Given the description of an element on the screen output the (x, y) to click on. 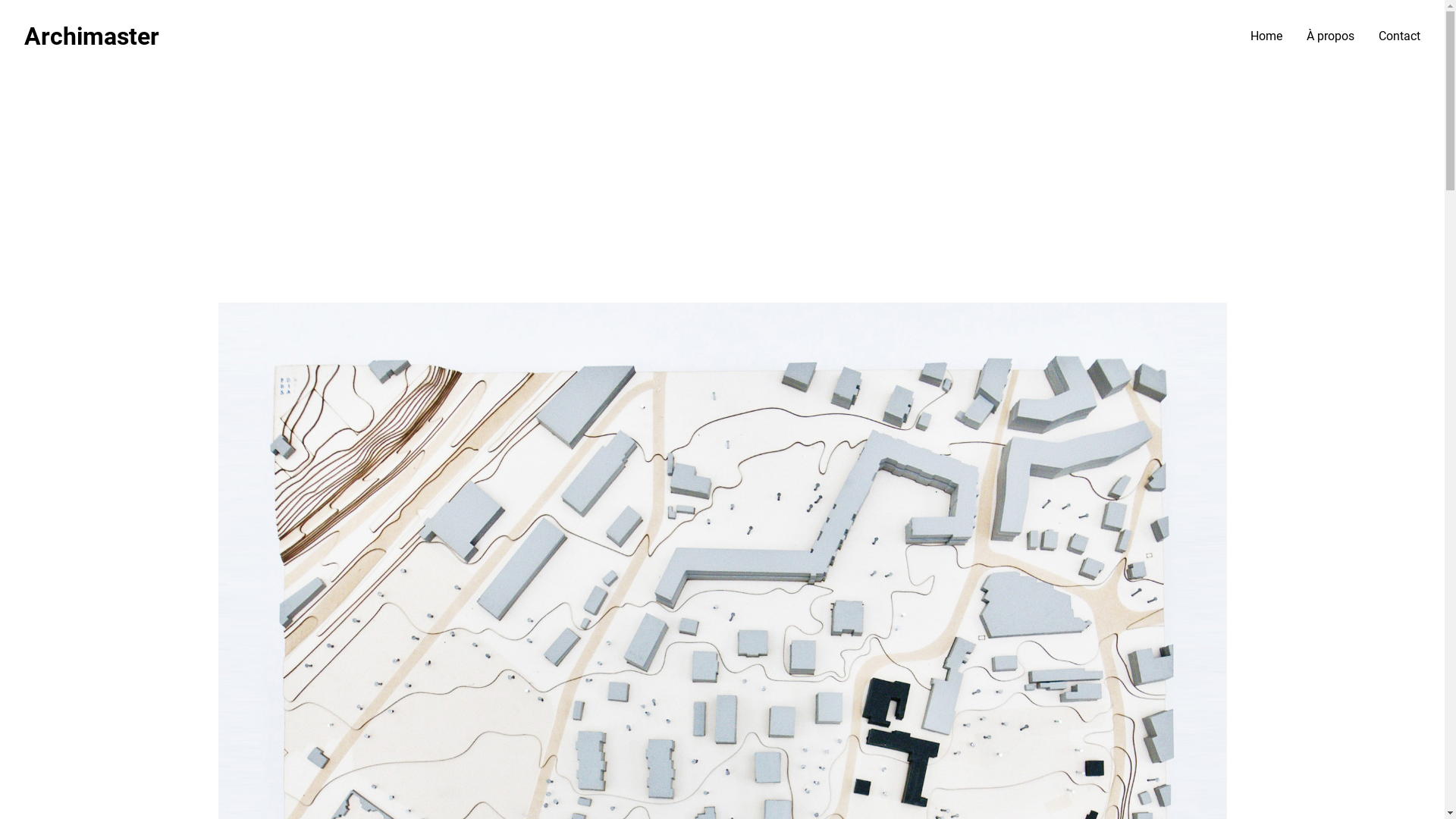
Archimaster Element type: text (91, 36)
Contact Element type: text (1399, 36)
Home Element type: text (1266, 36)
